Given the description of an element on the screen output the (x, y) to click on. 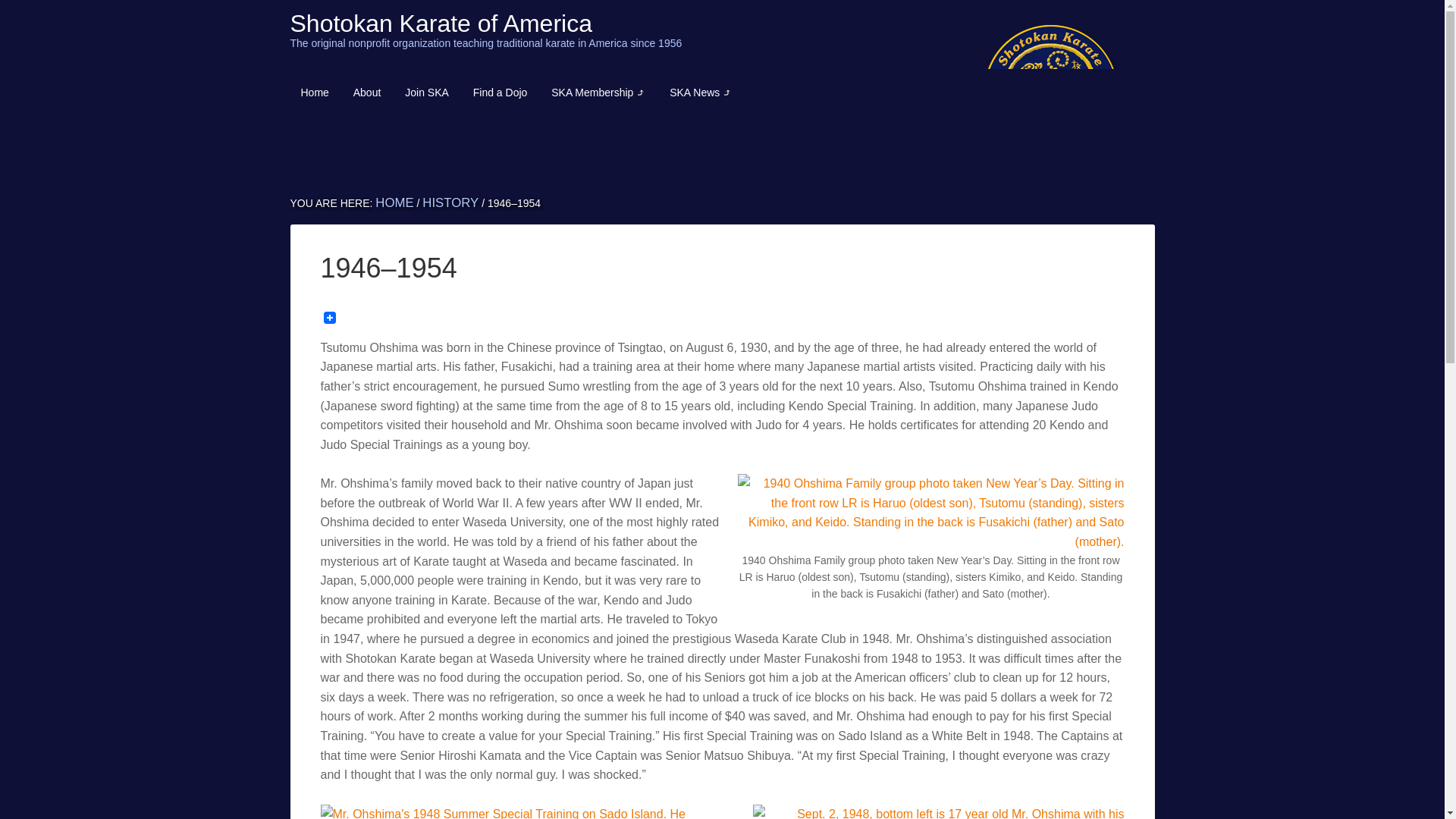
HOME (394, 202)
Shotokan Karate of America (440, 22)
Home (314, 92)
About (366, 92)
HISTORY (450, 202)
Find a Dojo (500, 92)
Join SKA (427, 92)
